Given the description of an element on the screen output the (x, y) to click on. 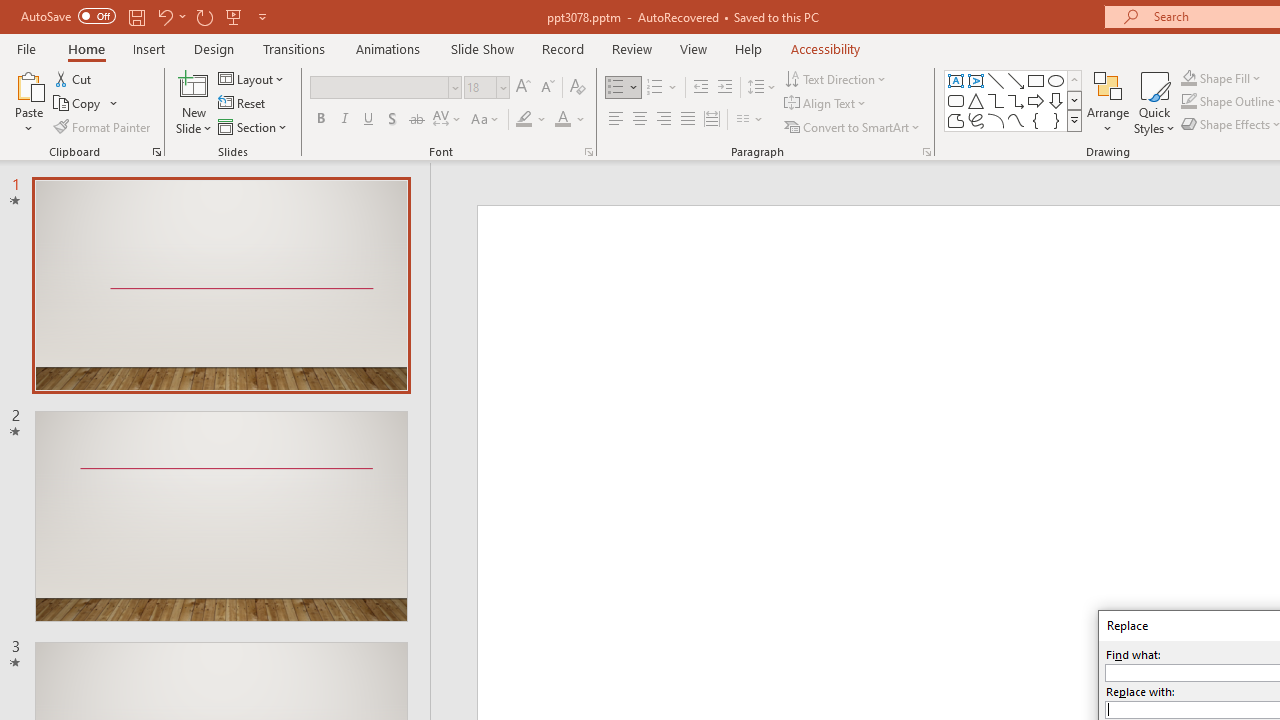
Italic (344, 119)
Isosceles Triangle (975, 100)
Font (379, 87)
Center (639, 119)
Text Box (955, 80)
Connector: Elbow (995, 100)
Paste (28, 84)
Strikethrough (416, 119)
Reset (243, 103)
Arrow: Right (1035, 100)
New Slide (193, 102)
